Given the description of an element on the screen output the (x, y) to click on. 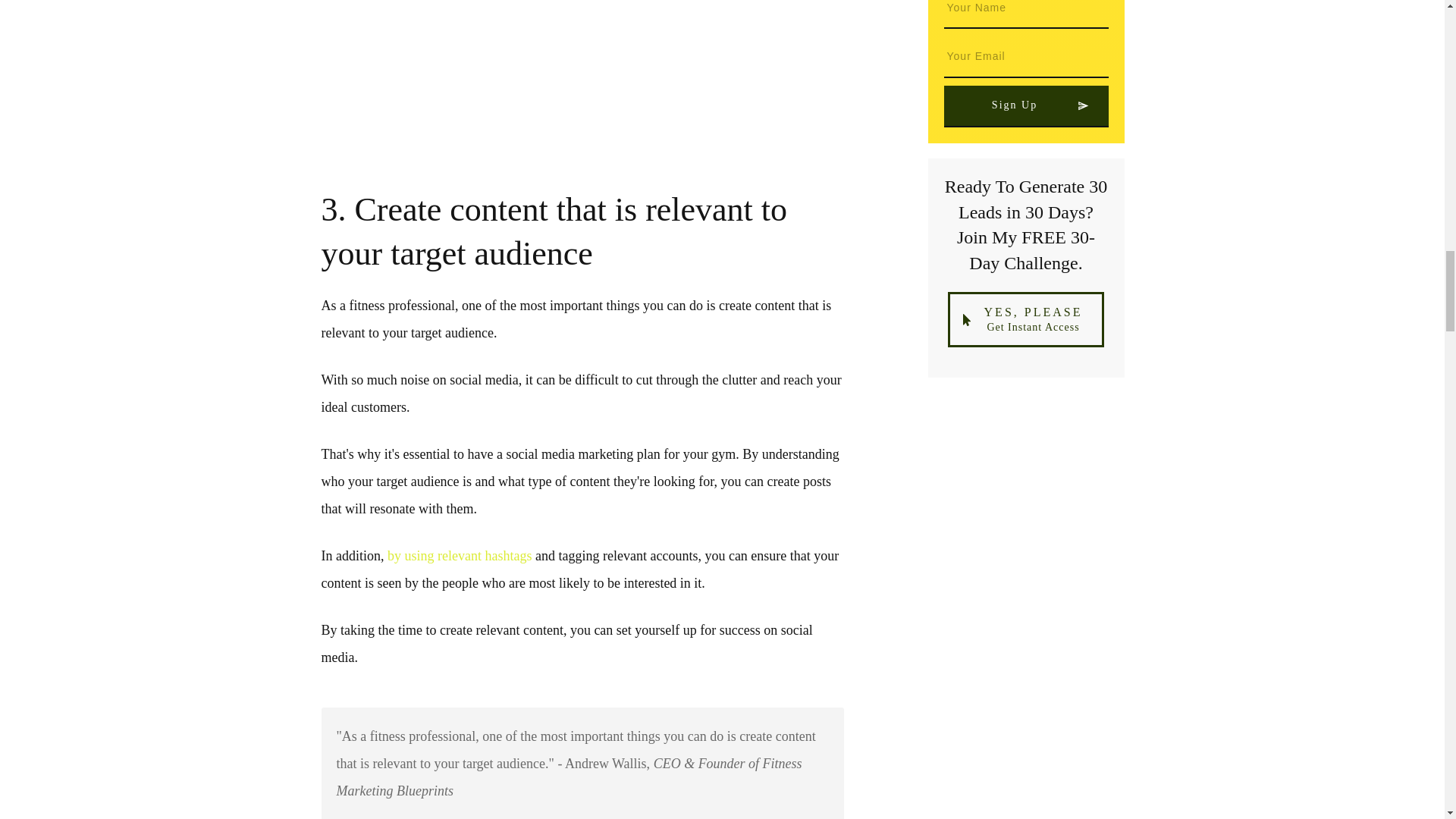
Sign Up (1025, 106)
by using relevant hashtags (459, 555)
Create content that is relevant to your target audience (582, 85)
